Given the description of an element on the screen output the (x, y) to click on. 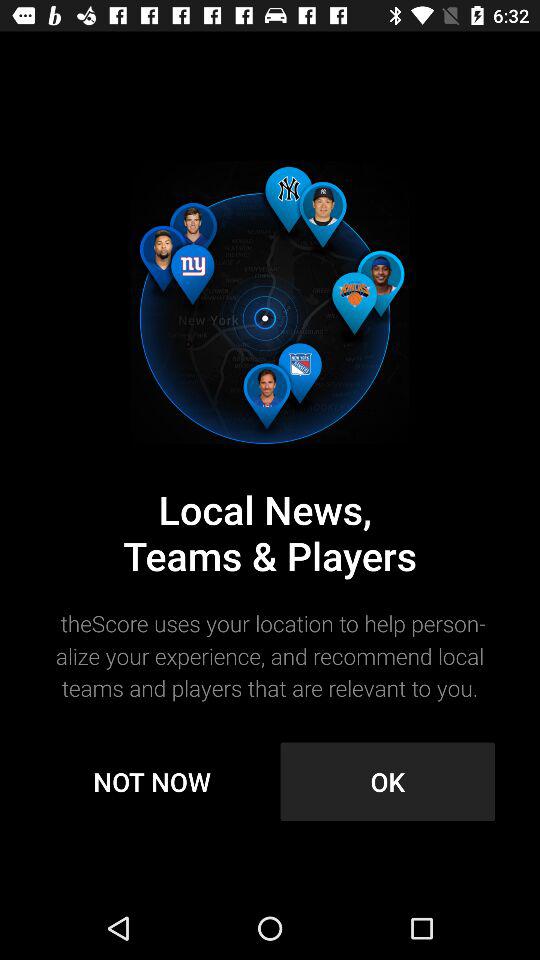
open the icon to the left of ok (152, 781)
